Given the description of an element on the screen output the (x, y) to click on. 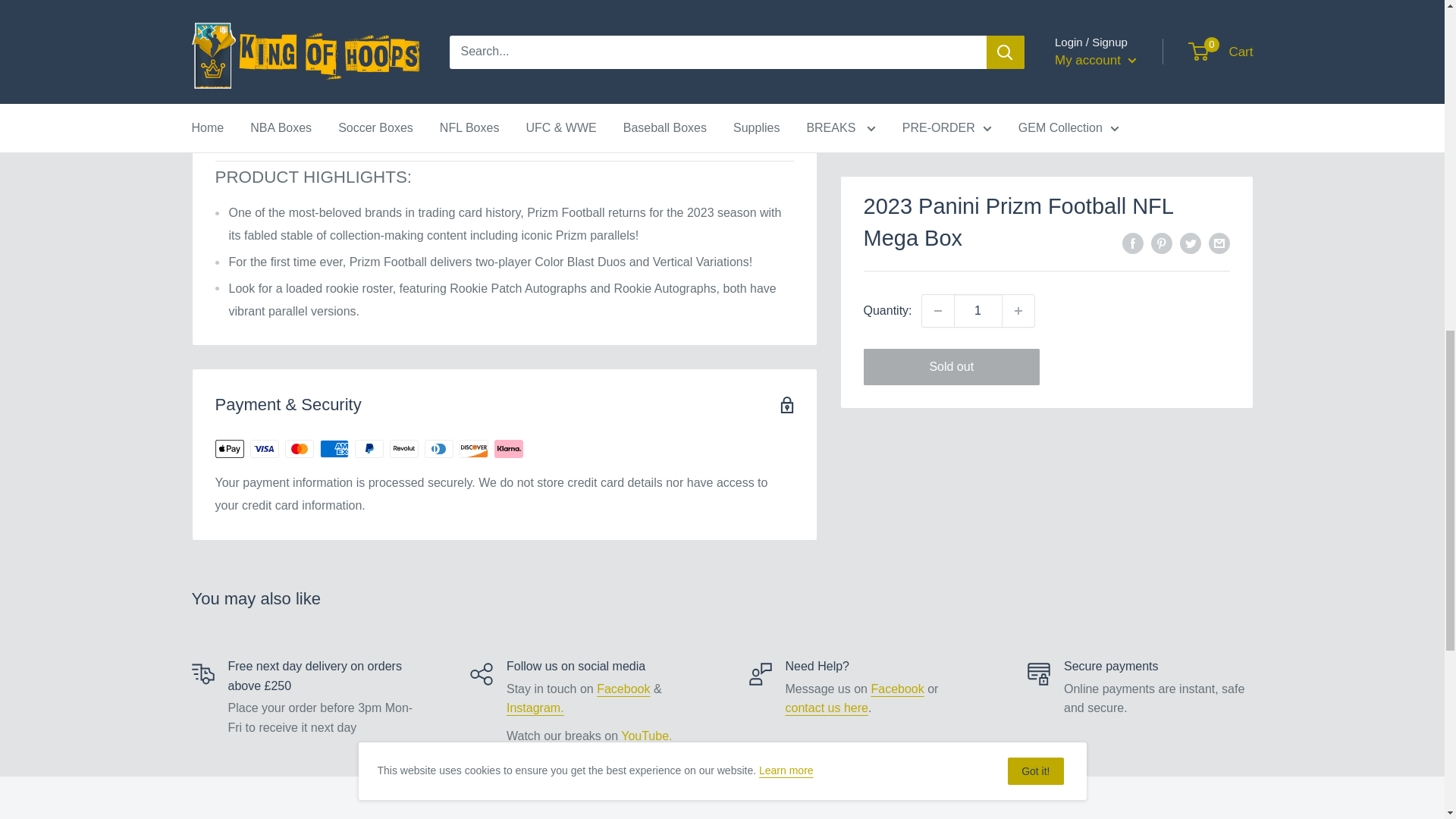
Page 6 (567, 47)
King of Hoops Breaks (622, 688)
Contact Us (826, 707)
Page 5 (504, 261)
King of Hoops Breaks Instagram (535, 707)
